Given the description of an element on the screen output the (x, y) to click on. 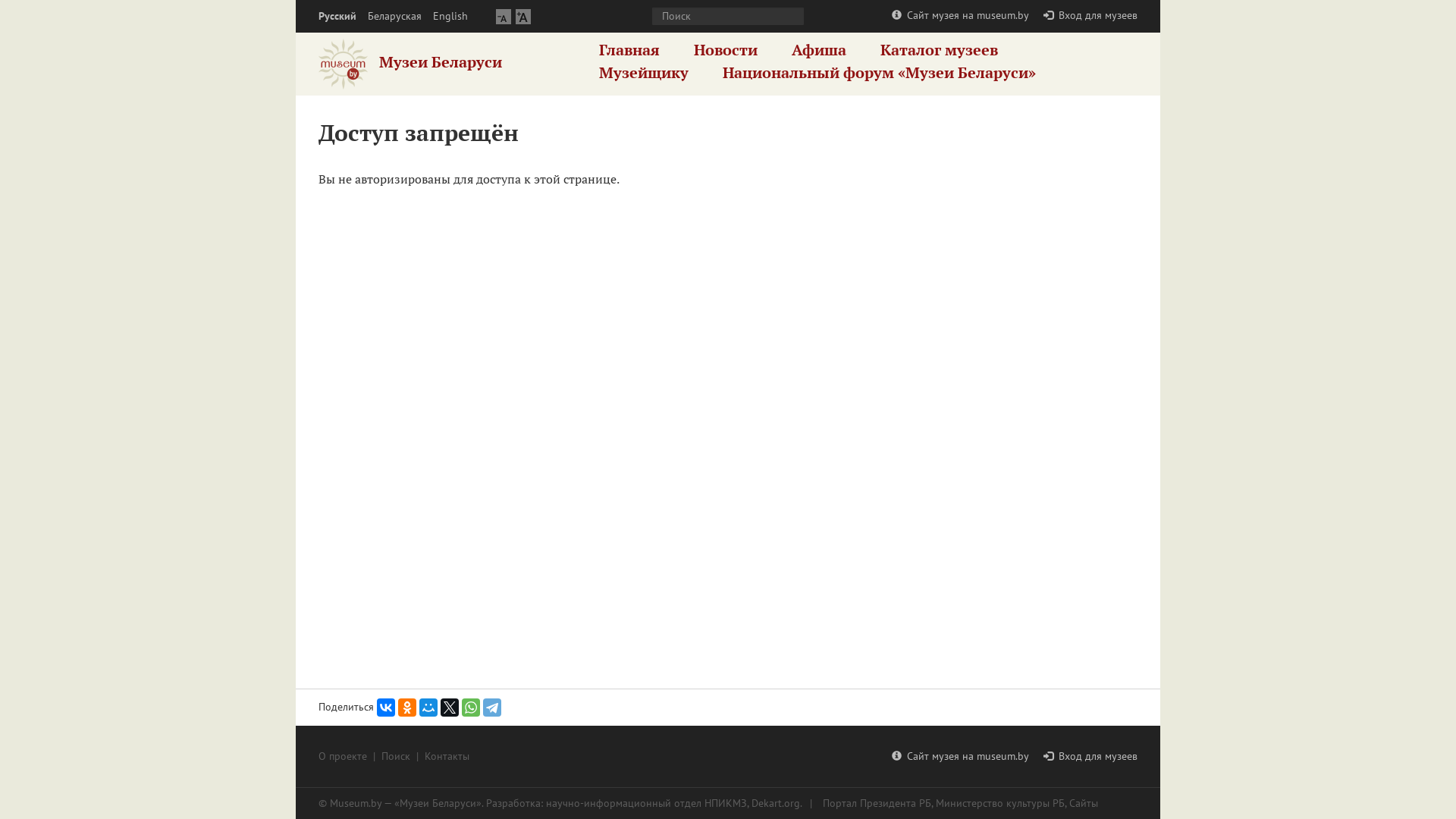
Museum.by Element type: text (355, 802)
A Element type: text (522, 16)
WhatsApp Element type: hover (470, 707)
Dekart.org Element type: text (775, 802)
Twitter Element type: hover (449, 707)
English Element type: text (450, 16)
A Element type: text (503, 16)
Telegram Element type: hover (492, 707)
